Given the description of an element on the screen output the (x, y) to click on. 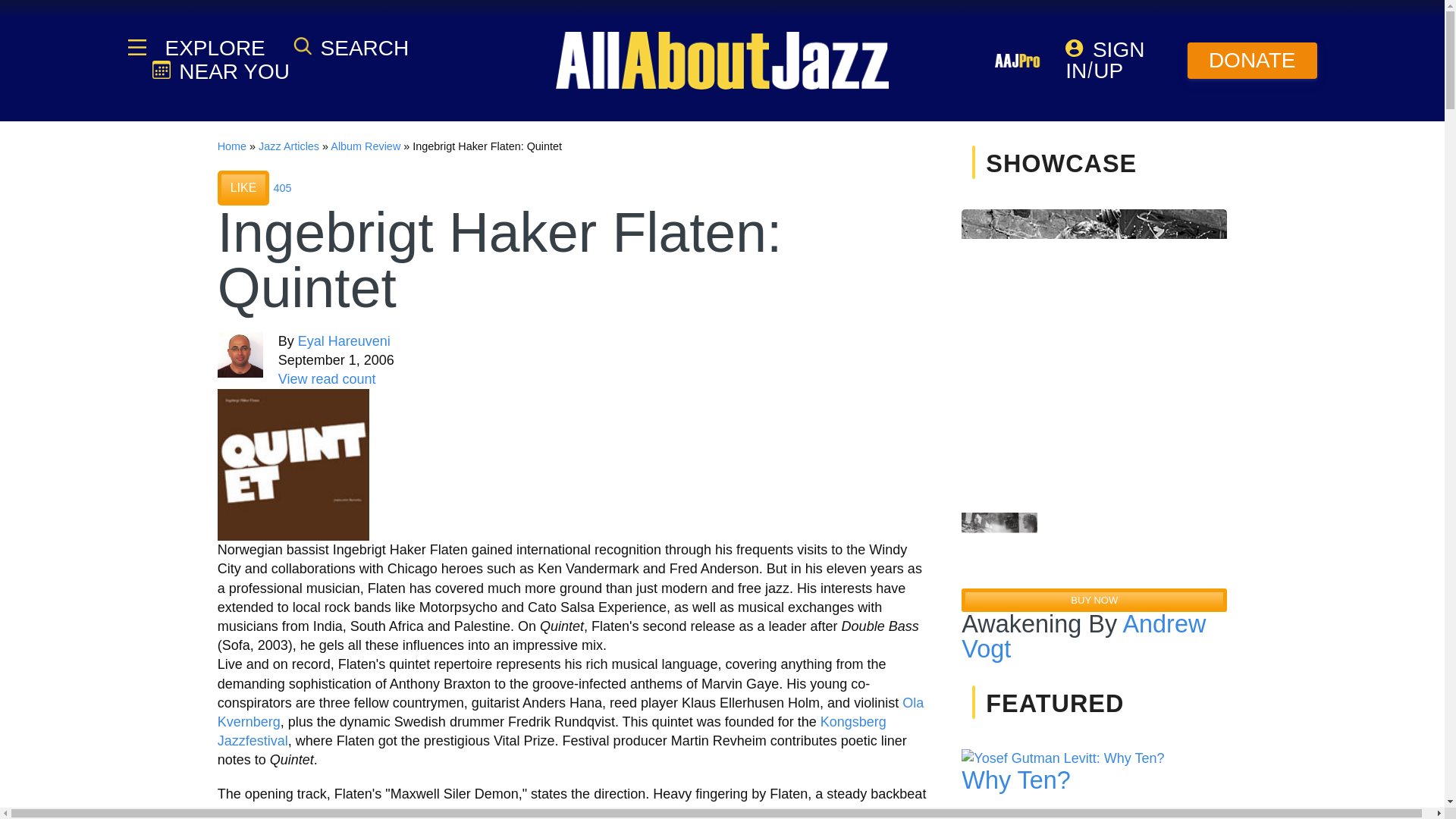
NEAR YOU (220, 71)
Search All About Jazz by category (351, 47)
View read count (326, 378)
405 (282, 187)
Ola Kvernberg (569, 712)
SEARCH (351, 47)
Album Review (365, 146)
Article Center (288, 146)
Kongsberg Jazzfestival (551, 731)
LIKE (242, 187)
